Given the description of an element on the screen output the (x, y) to click on. 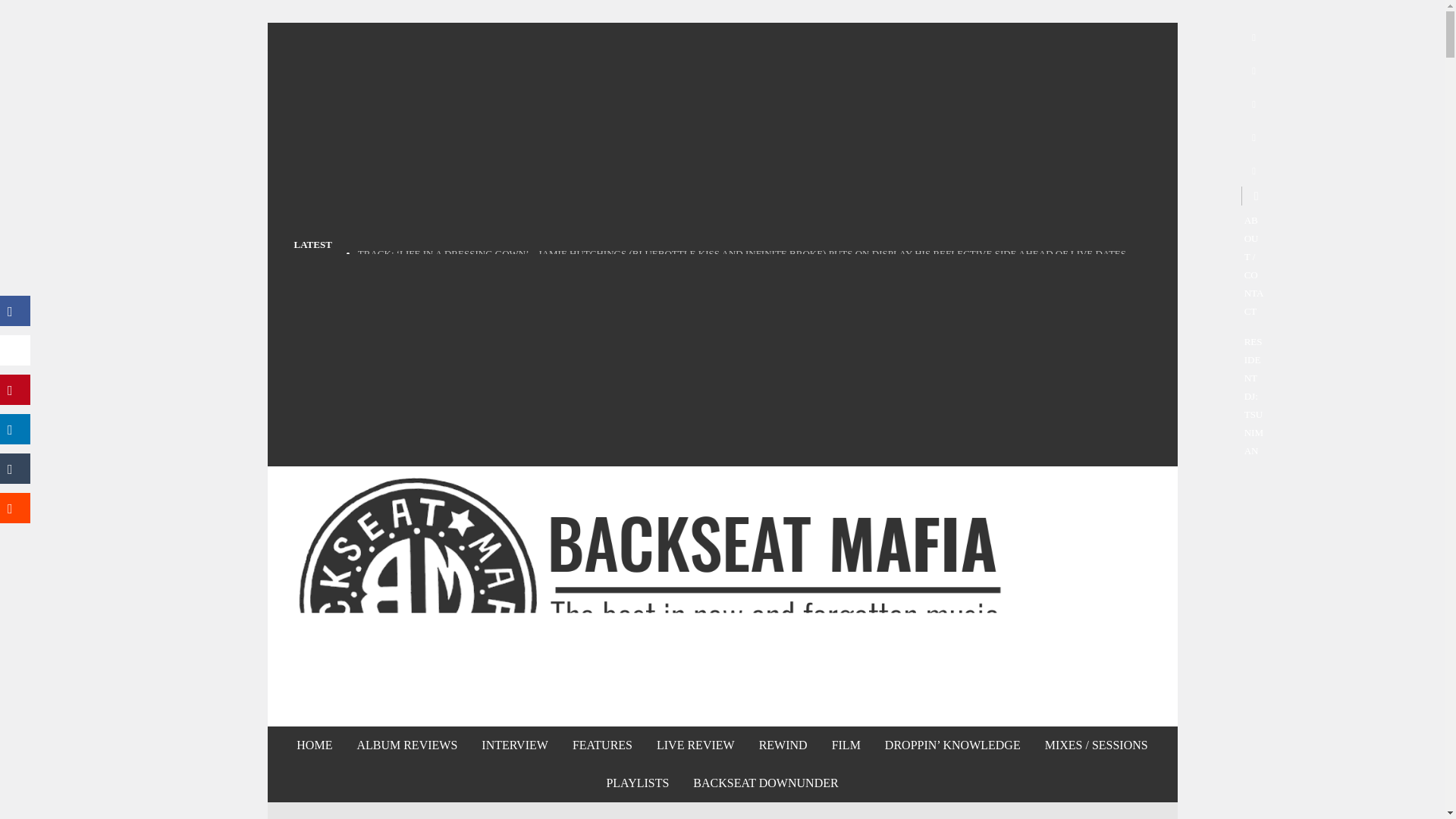
INTERVIEW (514, 745)
LIVE REVIEW (695, 745)
HOME (313, 745)
FILM (845, 745)
PLAYLISTS (637, 783)
FEATURES (602, 745)
ALBUM REVIEWS (405, 745)
REWIND (782, 745)
